Given the description of an element on the screen output the (x, y) to click on. 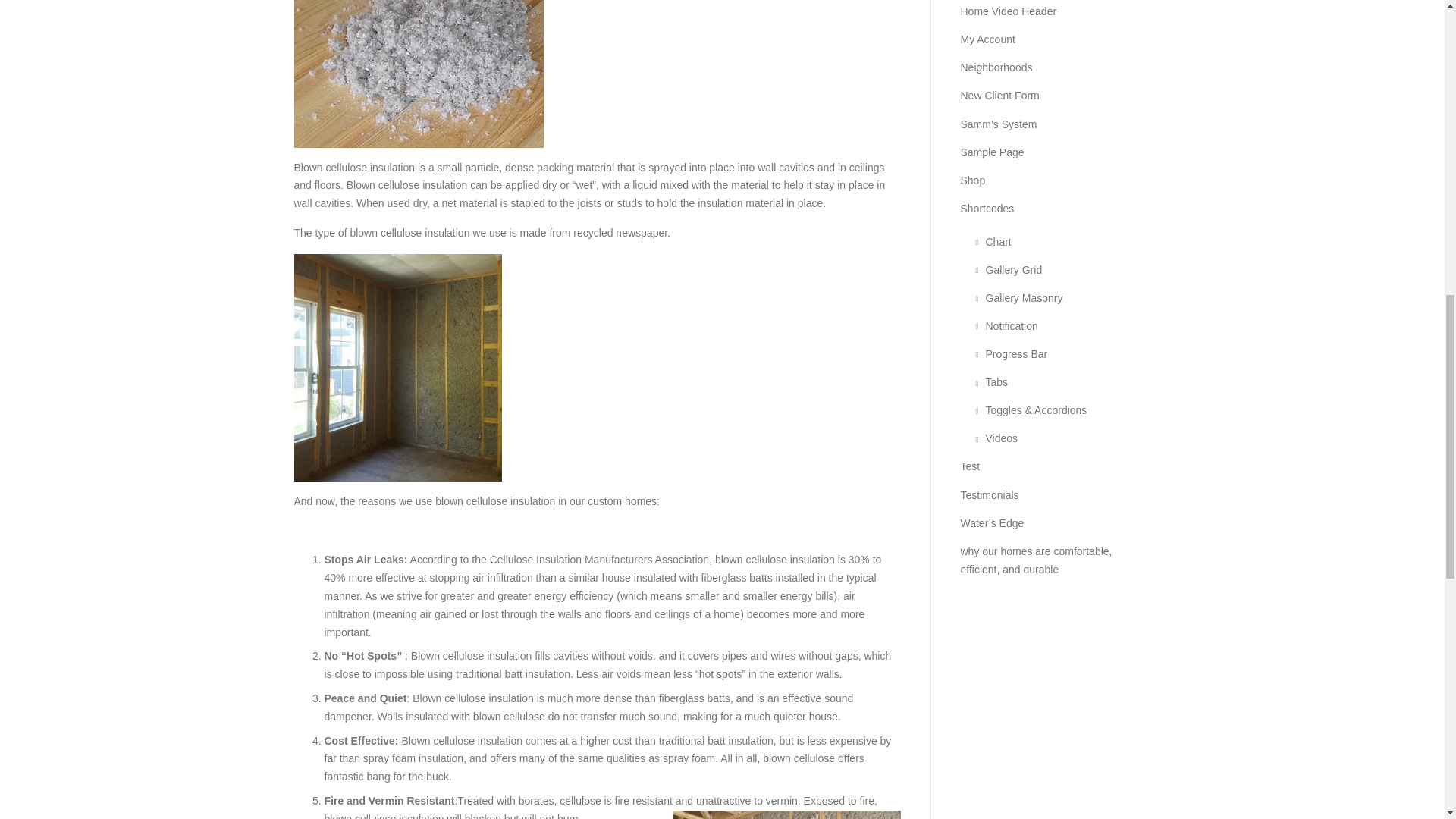
Neighborhoods (995, 67)
Home Video Header (1008, 10)
New Client Form (999, 95)
Shop (972, 180)
My Account (986, 39)
Sample Page (991, 152)
